Given the description of an element on the screen output the (x, y) to click on. 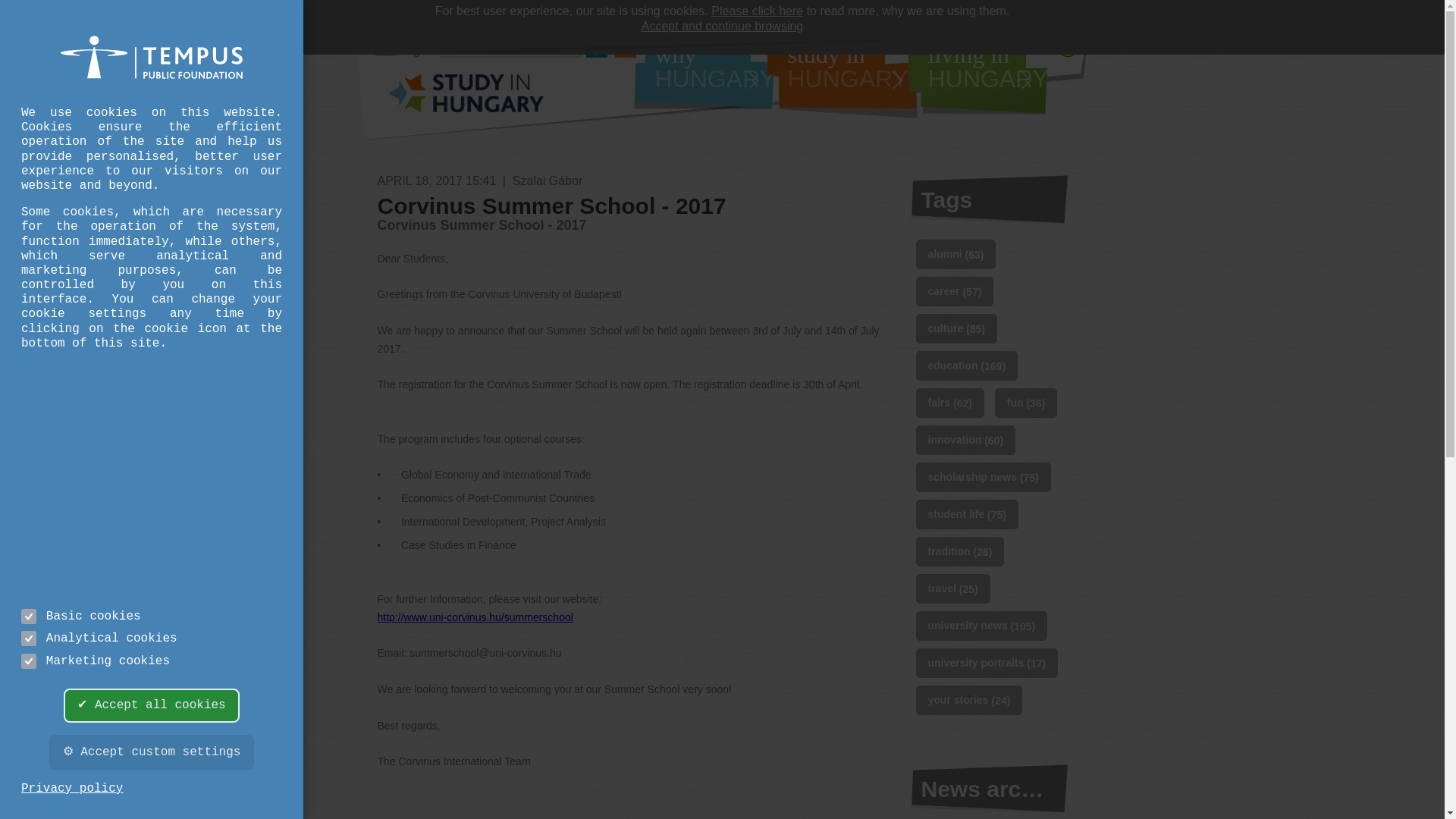
on (841, 77)
STUDY IN HUNGARY - THE CROSSROADS OF EUROPE (28, 661)
Please click here (465, 98)
on (757, 10)
on (28, 616)
Click here to print this page (703, 77)
